Given the description of an element on the screen output the (x, y) to click on. 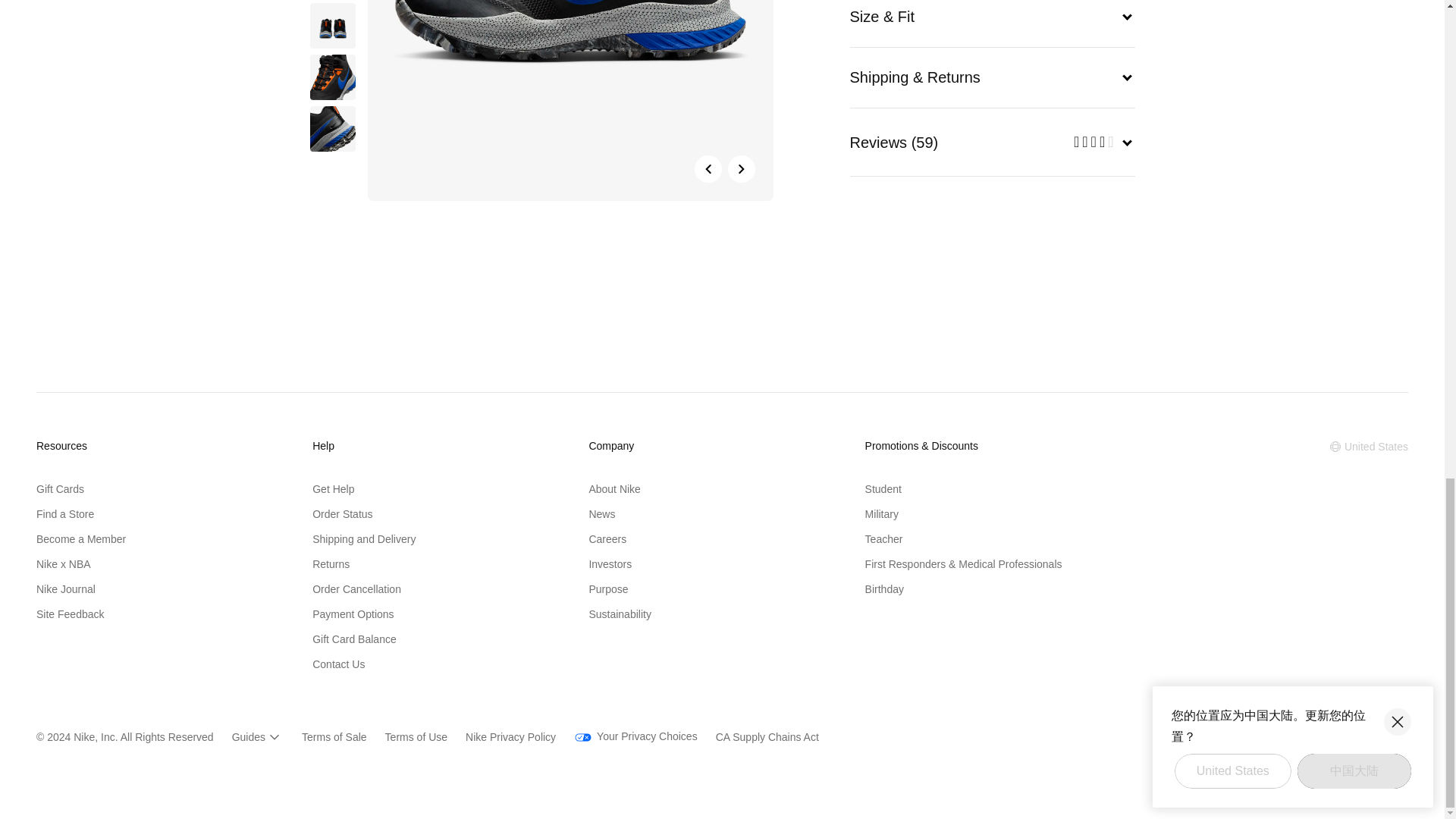
Selected Location: United States (1368, 446)
